Given the description of an element on the screen output the (x, y) to click on. 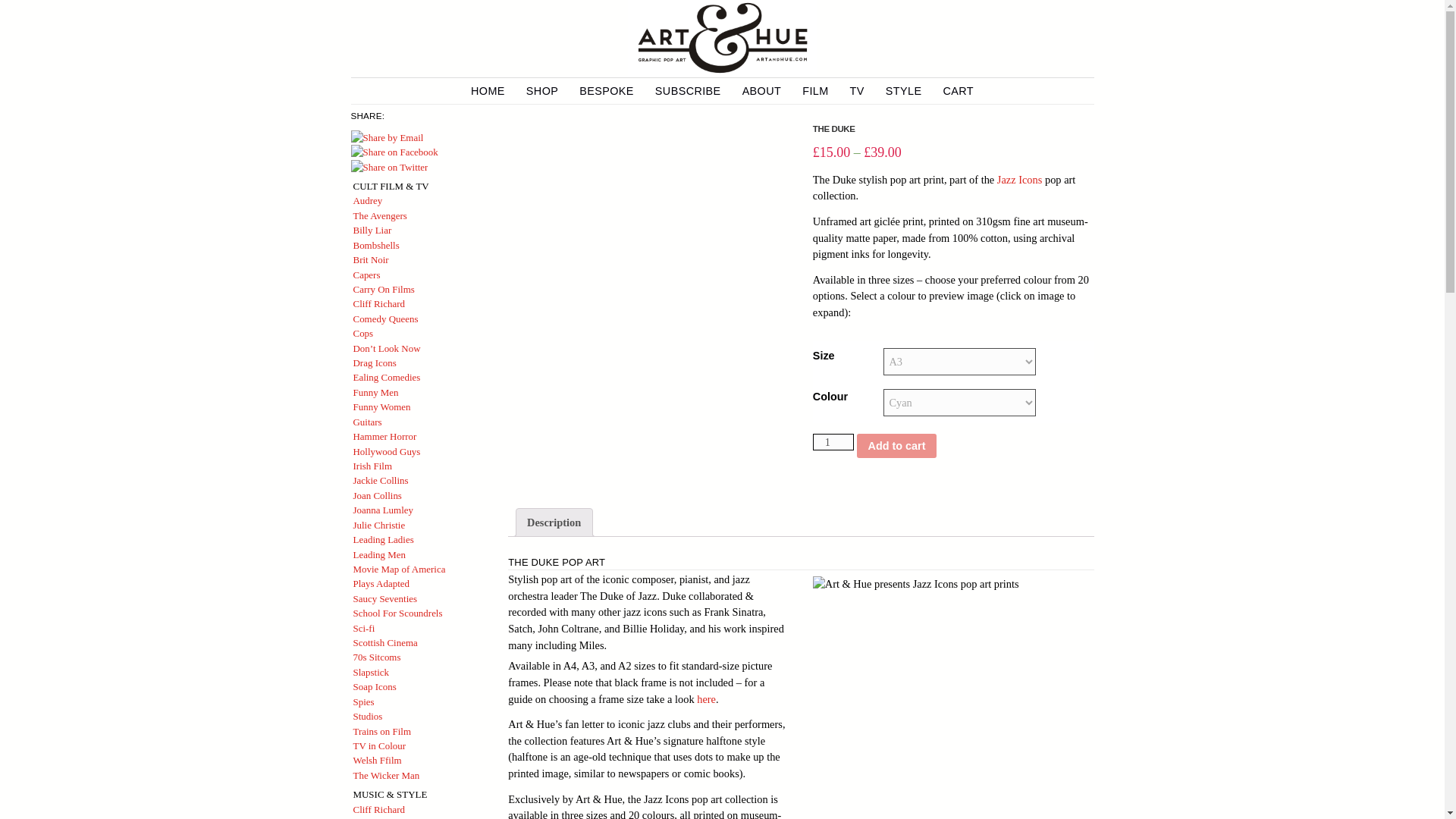
SUBSCRIBE (687, 90)
Home (721, 38)
FILM (815, 90)
BESPOKE (606, 90)
HOME (487, 90)
Qty (832, 442)
SHOP (541, 90)
ABOUT (761, 90)
1 (832, 442)
